Given the description of an element on the screen output the (x, y) to click on. 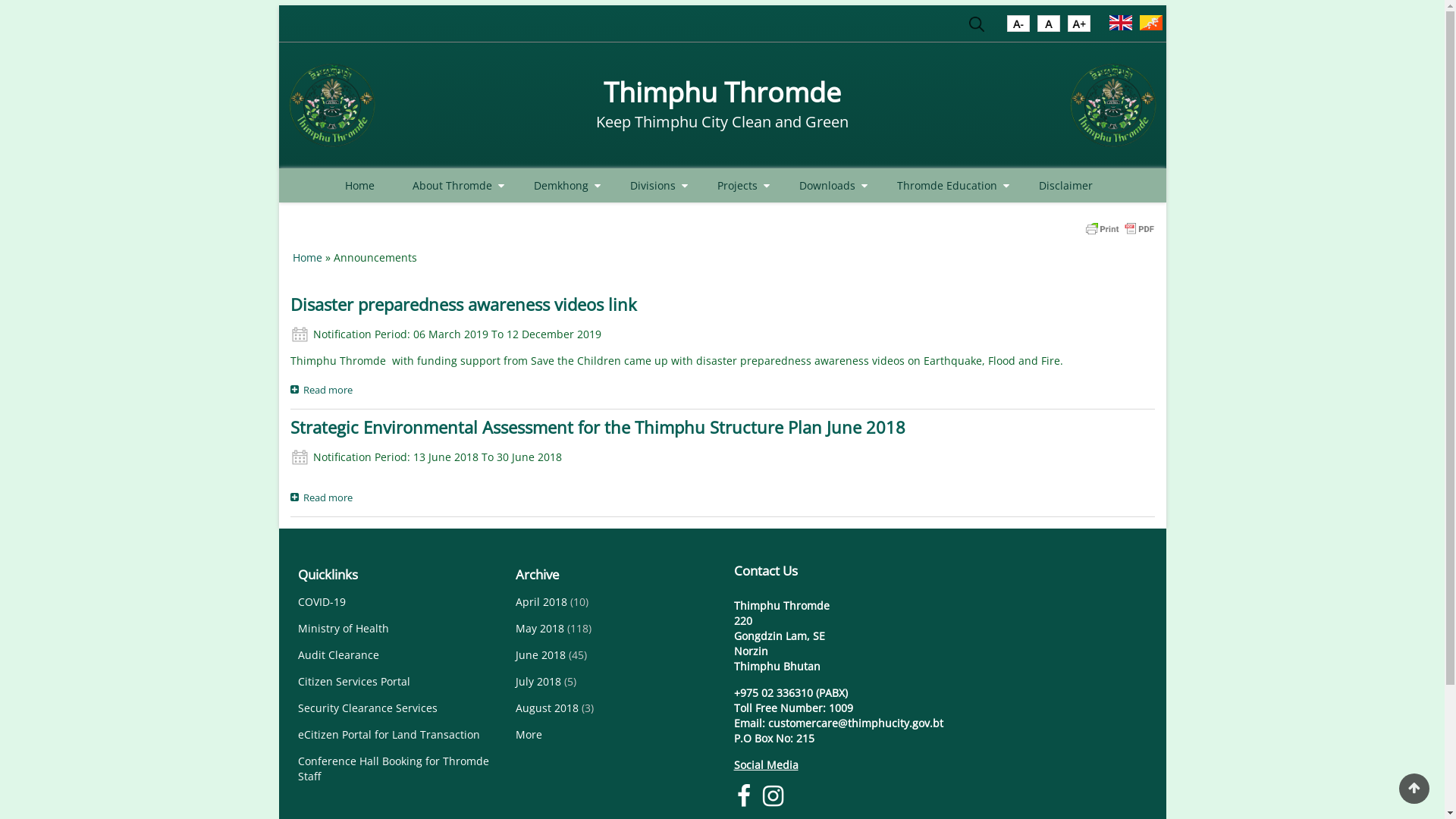
Thimphu Thromde Element type: text (721, 91)
A Element type: text (1078, 26)
Disclaimer Element type: text (1065, 185)
Skip to main content Element type: text (0, 0)
Disaster preparedness awareness videos link Element type: text (462, 304)
Home Element type: hover (331, 105)
Divisions Element type: text (653, 185)
More Element type: text (528, 734)
Home Element type: hover (1112, 105)
Home Element type: text (359, 185)
Read more
about Disaster preparedness awareness videos link Element type: text (324, 387)
eCitizen Portal for Land Transaction Element type: text (388, 734)
Ministry of Health Element type: text (342, 628)
Home Element type: text (307, 257)
A Element type: text (1018, 26)
April 2018 Element type: text (541, 601)
Demkhong Element type: text (562, 185)
June 2018 Element type: text (540, 654)
COVID-19 Element type: text (321, 601)
August 2018 Element type: text (546, 707)
Projects Element type: text (739, 185)
Back to Top Element type: hover (1414, 788)
Thromde Education Element type: text (948, 185)
Conference Hall Booking for Thromde Staff Element type: text (392, 768)
A Element type: text (1048, 26)
July 2018 Element type: text (538, 681)
Downloads Element type: text (829, 185)
May 2018 Element type: text (539, 628)
About Thromde Element type: text (454, 185)
Security Clearance Services Element type: text (366, 707)
Search Element type: text (976, 26)
Audit Clearance Element type: text (337, 654)
Printer Friendly, PDF & Email Element type: hover (1119, 227)
Citizen Services Portal Element type: text (353, 681)
